Given the description of an element on the screen output the (x, y) to click on. 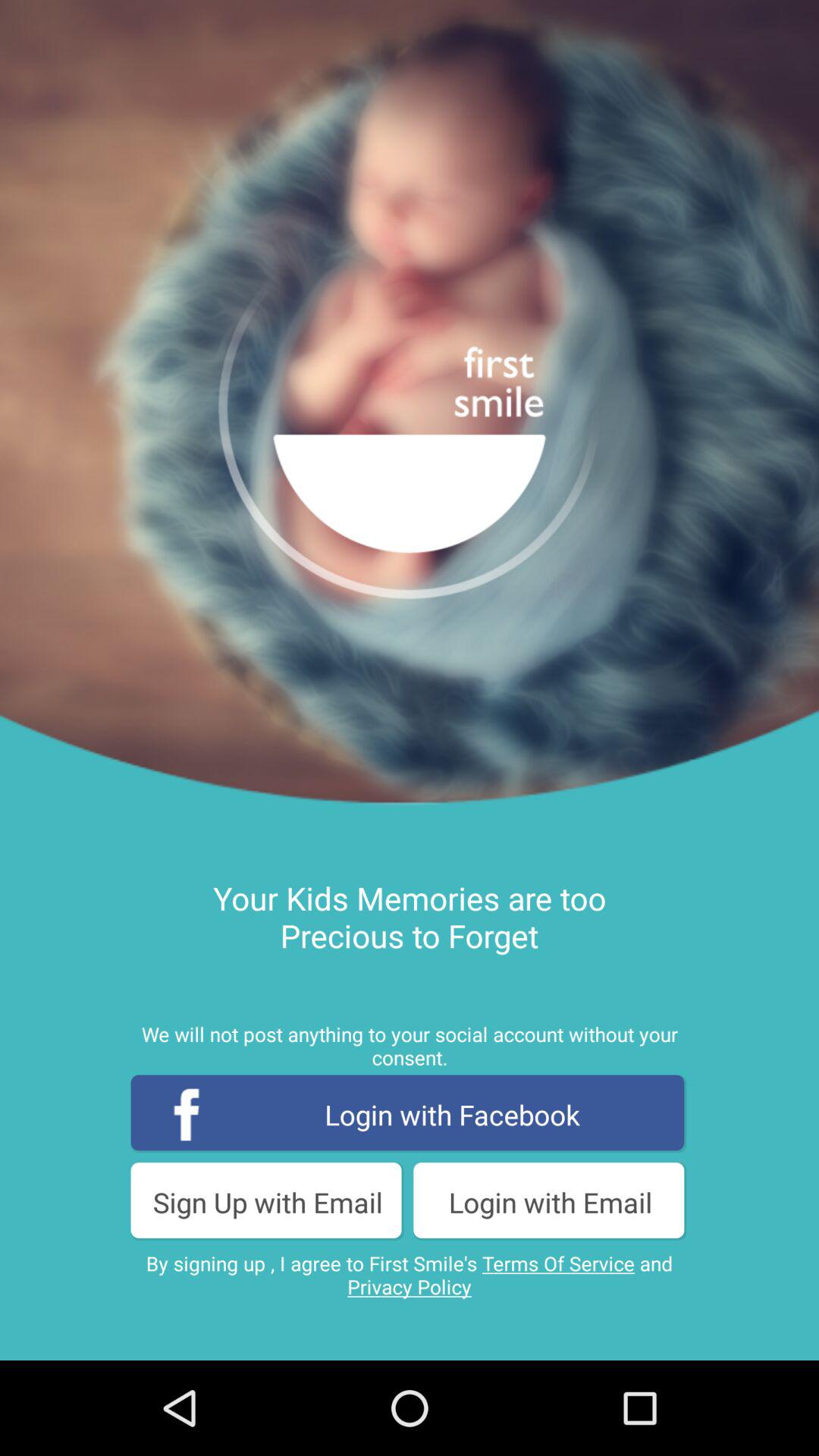
open icon next to login with email button (267, 1202)
